Given the description of an element on the screen output the (x, y) to click on. 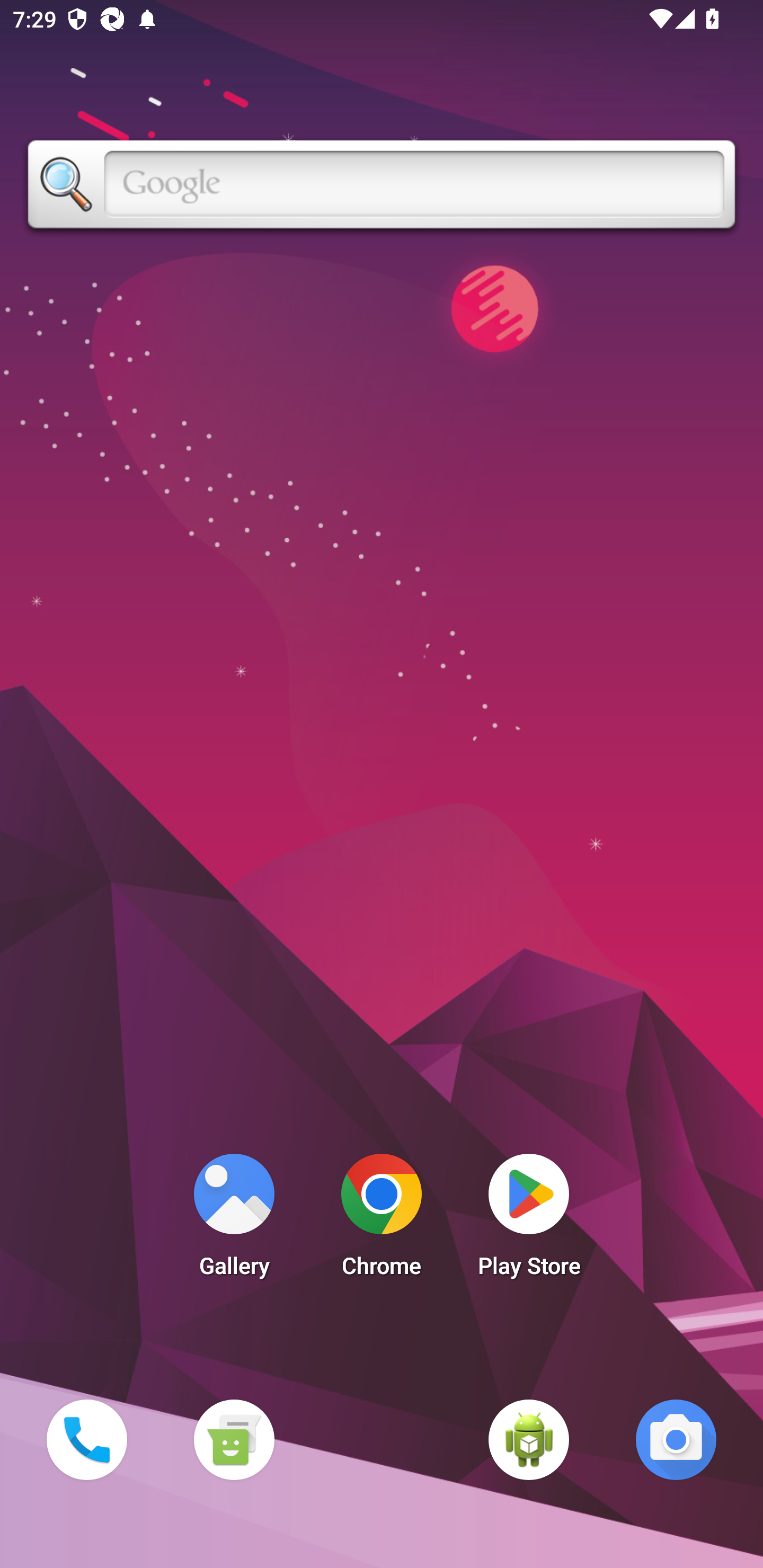
Gallery (233, 1220)
Chrome (381, 1220)
Play Store (528, 1220)
Phone (86, 1439)
Messaging (233, 1439)
WebView Browser Tester (528, 1439)
Camera (676, 1439)
